Given the description of an element on the screen output the (x, y) to click on. 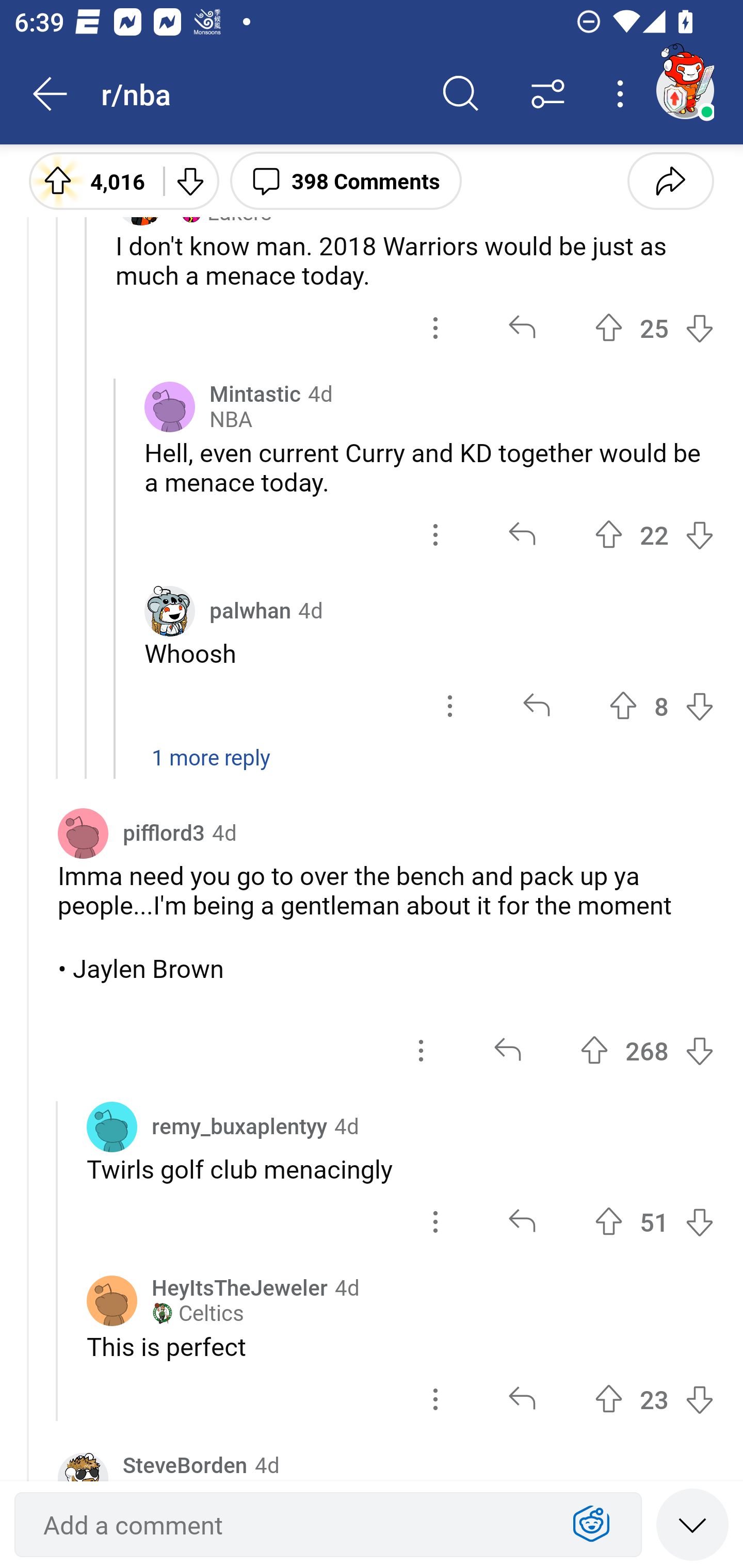
Back (50, 93)
TestAppium002 account (685, 90)
Search comments (460, 93)
Sort comments (547, 93)
More options (623, 93)
r/nba (259, 92)
Upvote 4,016 (88, 180)
Downvote (189, 180)
398 Comments (346, 180)
Share (670, 180)
options (435, 327)
Upvote 25 25 votes Downvote (654, 327)
Avatar (169, 406)
NBA (230, 419)
options (435, 534)
Upvote 22 22 votes Downvote (654, 534)
Custom avatar (169, 611)
Whoosh (429, 652)
options (449, 705)
Upvote 8 8 votes Downvote (661, 705)
1 more reply (371, 767)
Avatar (82, 832)
options (420, 1050)
Upvote 268 268 votes Downvote (647, 1050)
Avatar (111, 1127)
Twirls golf club menacingly (400, 1168)
options (435, 1221)
Upvote 51 51 votes Downvote (654, 1221)
Avatar (111, 1300)
￼ Celtics (197, 1313)
This is perfect (400, 1345)
options (435, 1398)
Upvote 23 23 votes Downvote (654, 1398)
Speed read (692, 1524)
Add a comment (291, 1524)
Show Expressions (590, 1524)
